Given the description of an element on the screen output the (x, y) to click on. 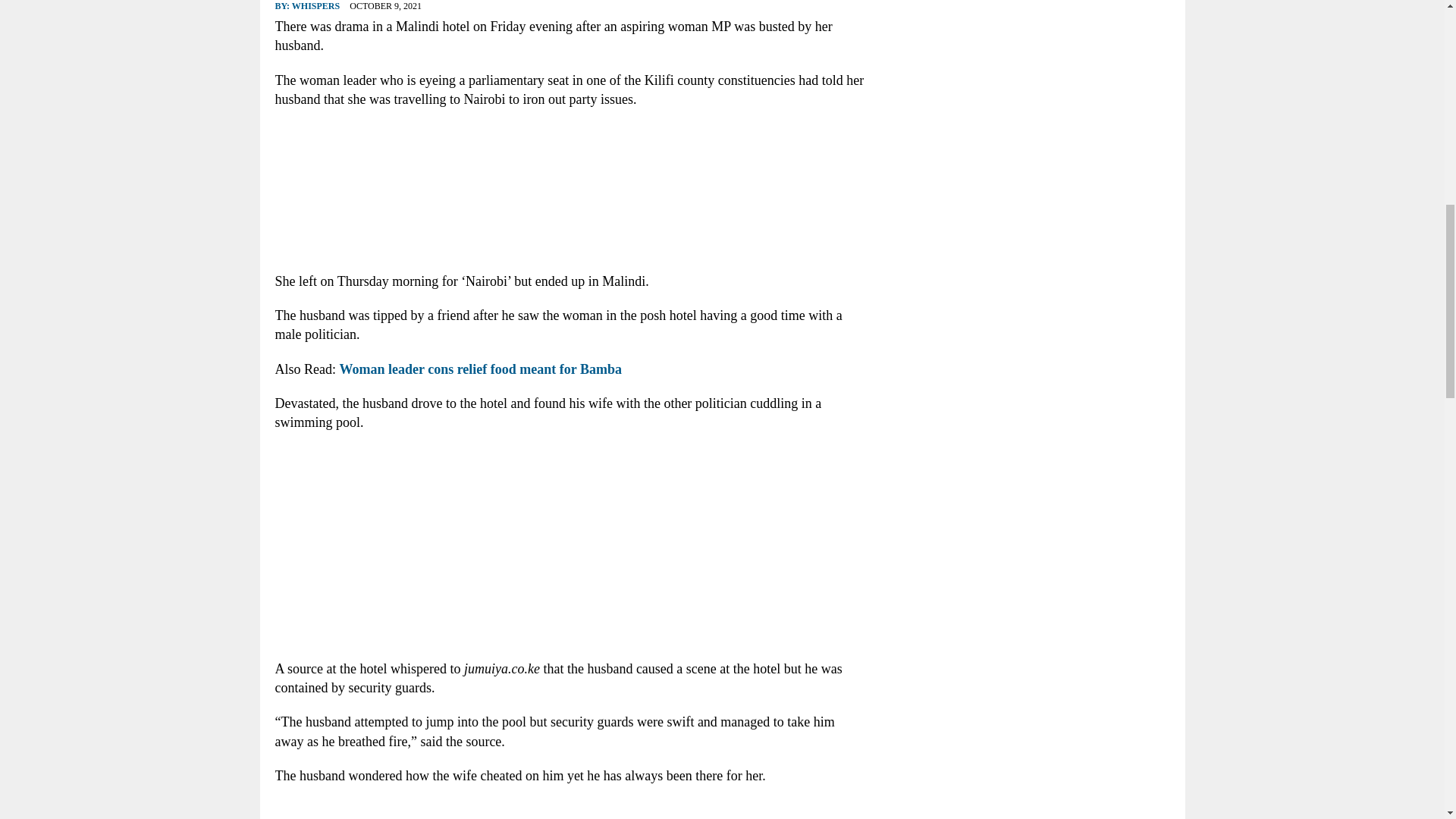
Woman leader cons relief food meant for Bamba (480, 368)
WHISPERS (315, 5)
